Given the description of an element on the screen output the (x, y) to click on. 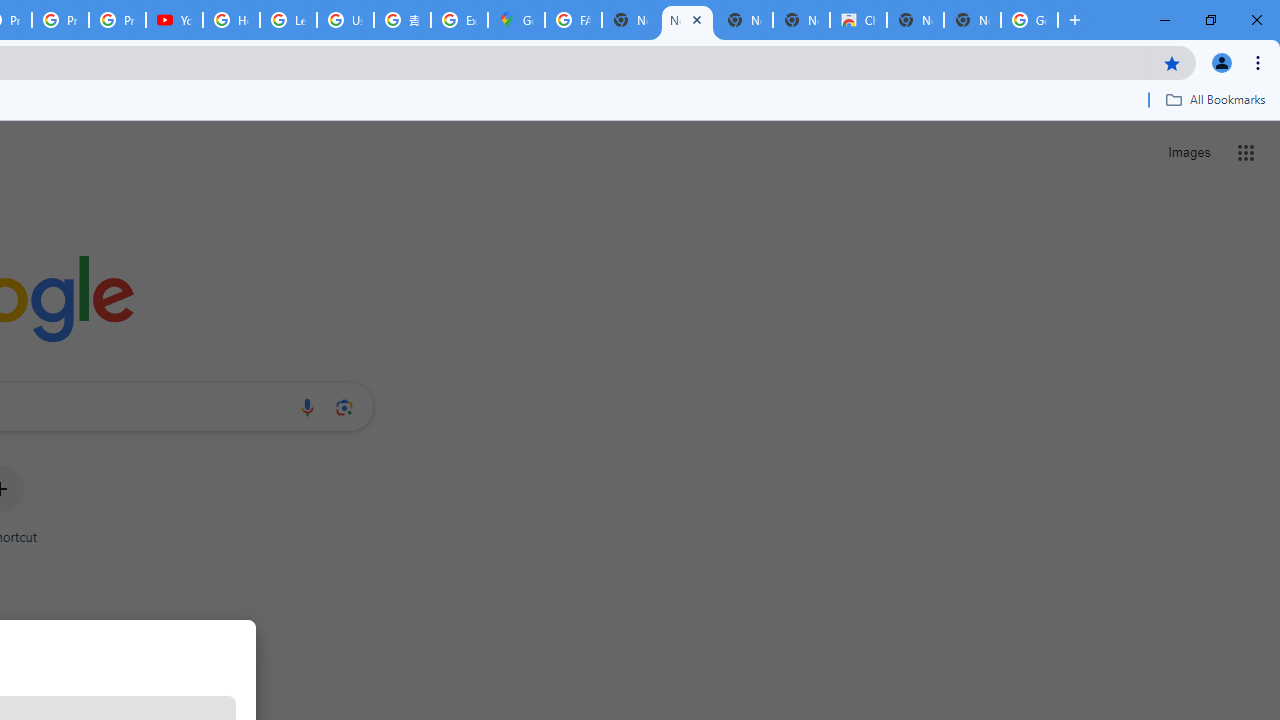
Chrome Web Store (858, 20)
Privacy Checkup (60, 20)
YouTube (174, 20)
